Given the description of an element on the screen output the (x, y) to click on. 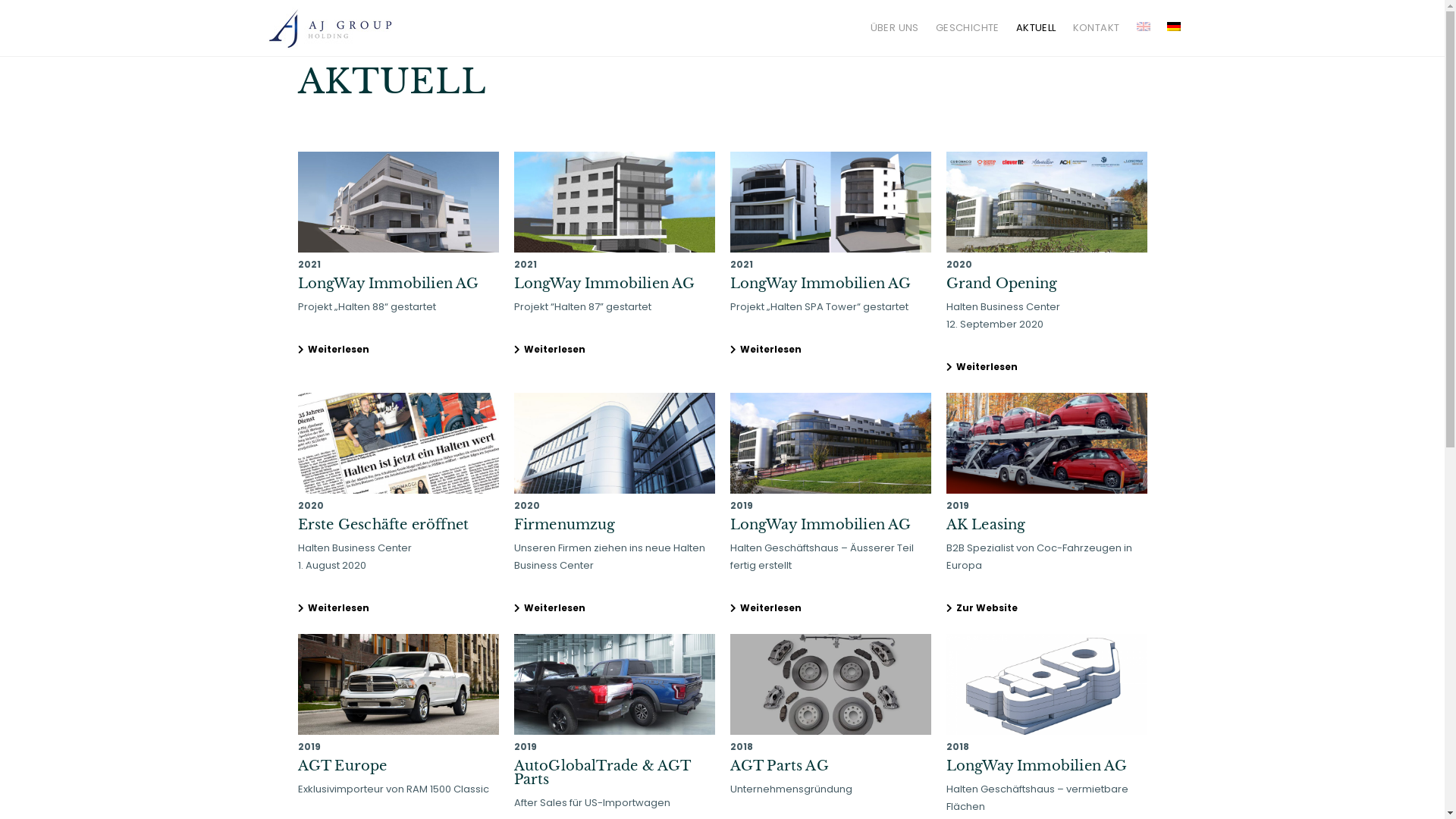
Weiterlesen Element type: text (768, 607)
Zur Website Element type: text (985, 607)
AKTUELL Element type: text (1035, 28)
Weiterlesen Element type: text (336, 607)
Weiterlesen Element type: text (336, 349)
KONTAKT Element type: text (1096, 28)
Weiterlesen Element type: text (553, 607)
Weiterlesen Element type: text (553, 349)
Weiterlesen Element type: text (768, 349)
Weiterlesen Element type: text (985, 366)
GESCHICHTE Element type: text (967, 28)
